Given the description of an element on the screen output the (x, y) to click on. 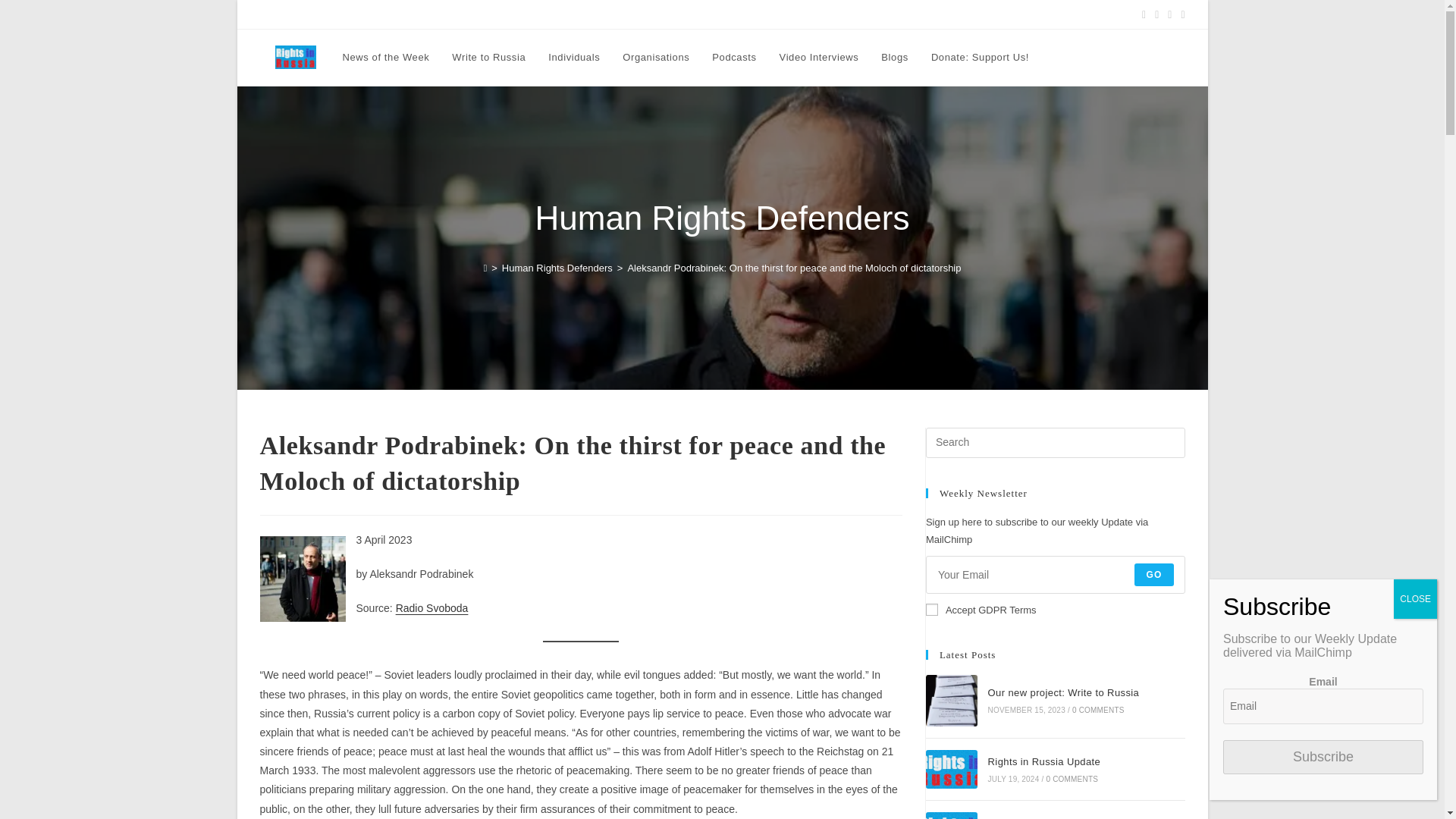
Podcasts (733, 57)
Organisations (655, 57)
Radio Svoboda (432, 607)
News of the Week (385, 57)
Our new project: Write to Russia (951, 700)
1 (931, 609)
Rights in Russia Update (307, 13)
What We Say (557, 13)
About us (707, 13)
Archive 2010-2020 (882, 13)
Blogs (894, 57)
Rights in Russia Update (951, 769)
Remember the Date (637, 13)
Video Interviews (819, 57)
